Given the description of an element on the screen output the (x, y) to click on. 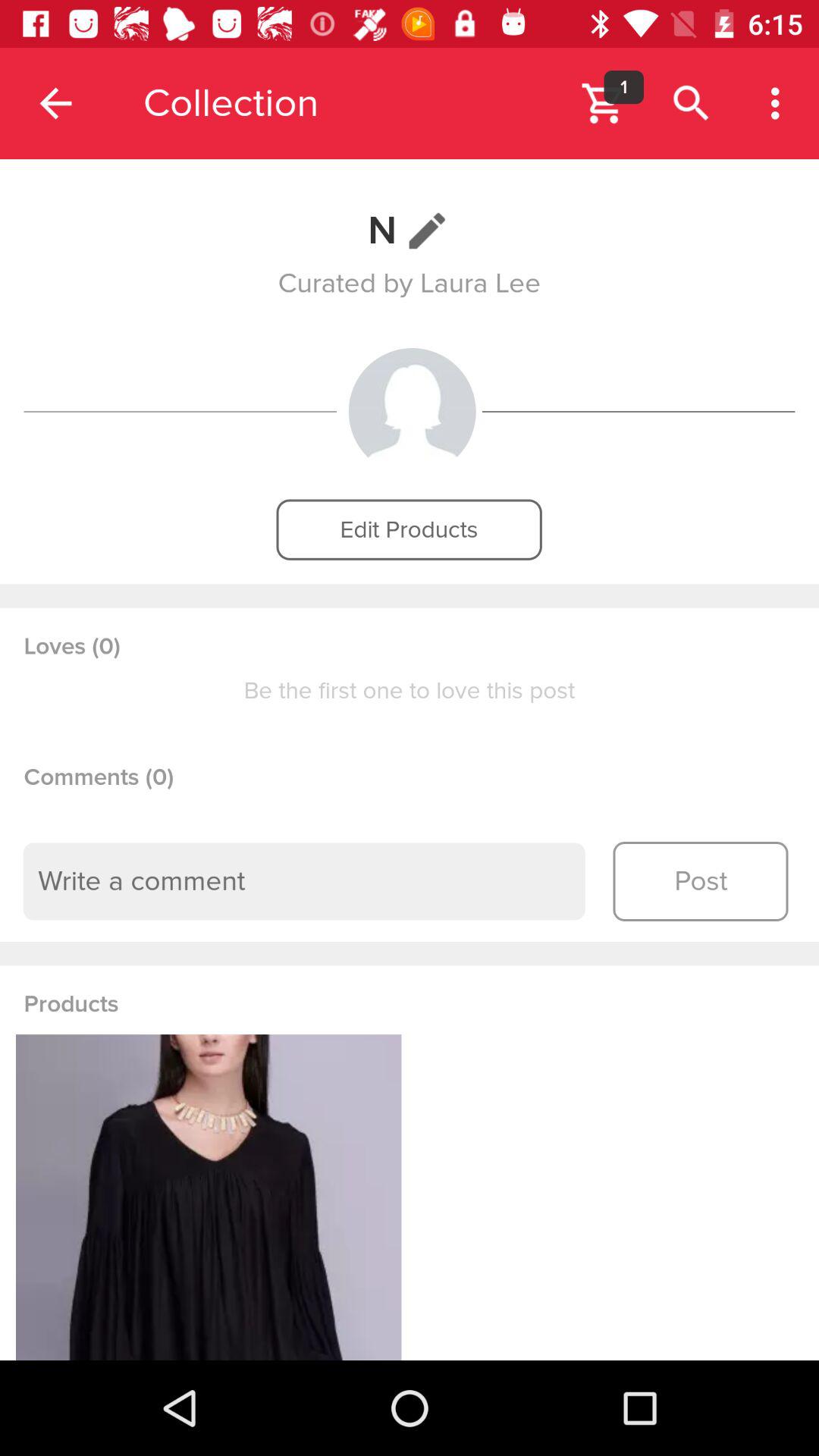
comment text box (304, 881)
